Given the description of an element on the screen output the (x, y) to click on. 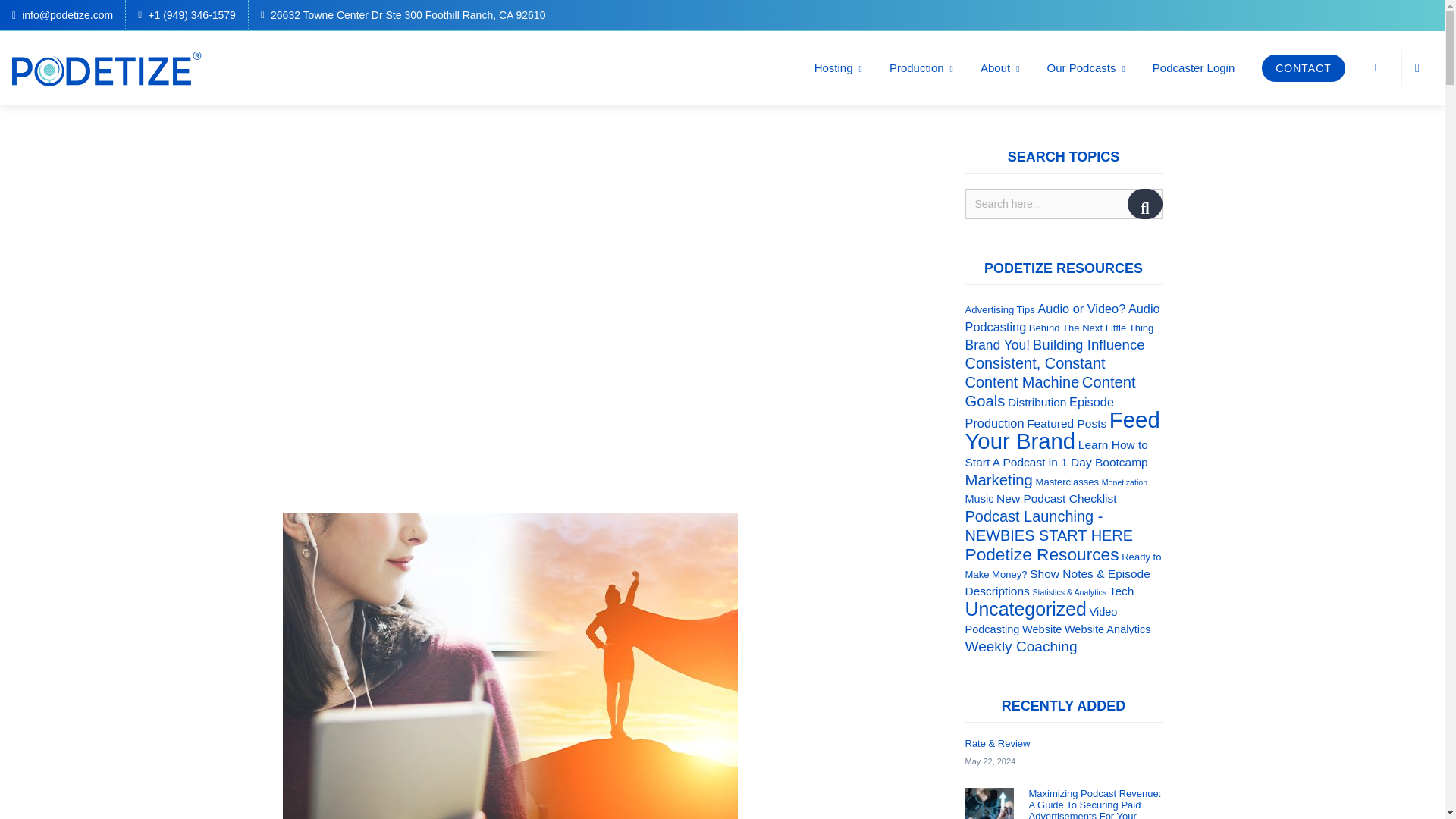
Production (921, 67)
About (999, 67)
Our Podcasts (1085, 67)
Podcaster Login (1192, 67)
Search here... (1062, 203)
Podetize (106, 67)
Hosting (838, 67)
Search here... (1062, 203)
